Given the description of an element on the screen output the (x, y) to click on. 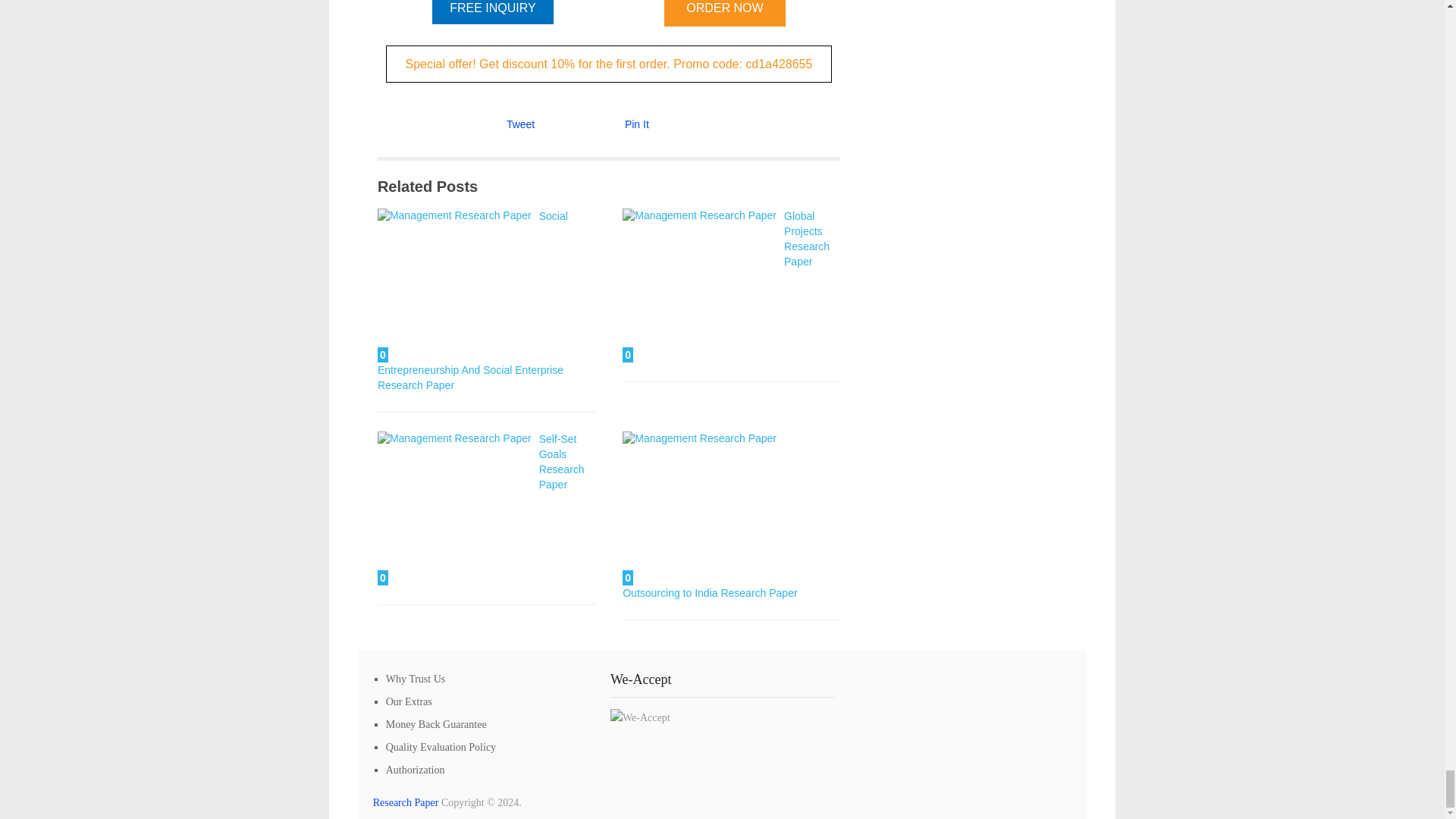
Pin It (636, 123)
Social Entrepreneurship And Social Enterprise Research Paper (454, 285)
 Custom Writing Services (405, 802)
FREE INQUIRY (492, 12)
ORDER NOW (724, 13)
0 (699, 285)
Outsourcing to India Research Paper (709, 592)
Outsourcing to India Research Paper (709, 592)
0 (454, 508)
Social Entrepreneurship And Social Enterprise Research Paper (472, 300)
0 (454, 285)
0 (699, 508)
Tweet (520, 123)
Outsourcing to India Research Paper (699, 508)
Self-Set Goals Research Paper (454, 508)
